Given the description of an element on the screen output the (x, y) to click on. 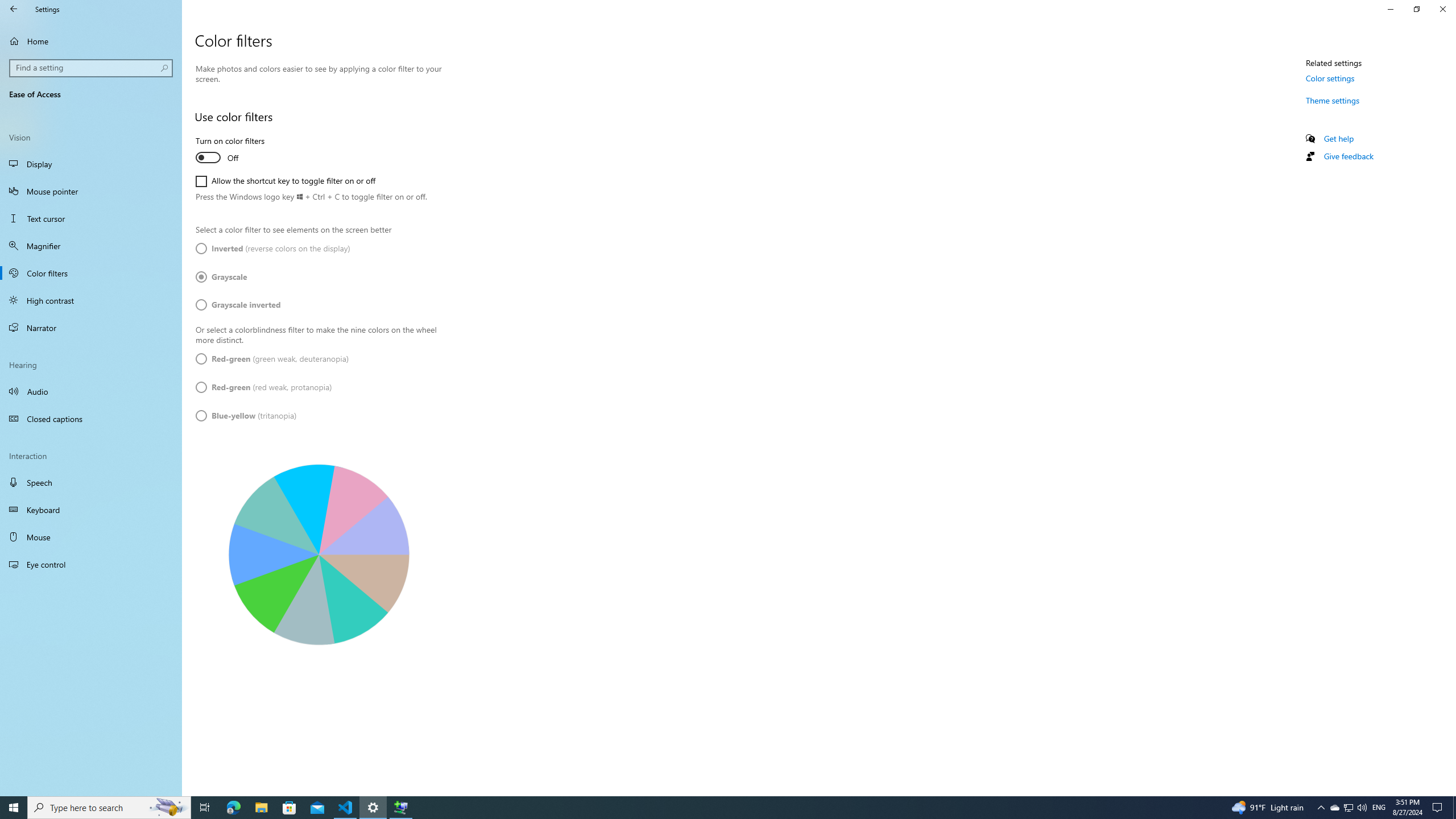
Home (91, 40)
Audio (91, 390)
Color settings (1330, 77)
Settings - 1 running window (373, 807)
Red-green (green weak, deuteranopia) (272, 358)
Running applications (706, 807)
Theme settings (1332, 100)
